Given the description of an element on the screen output the (x, y) to click on. 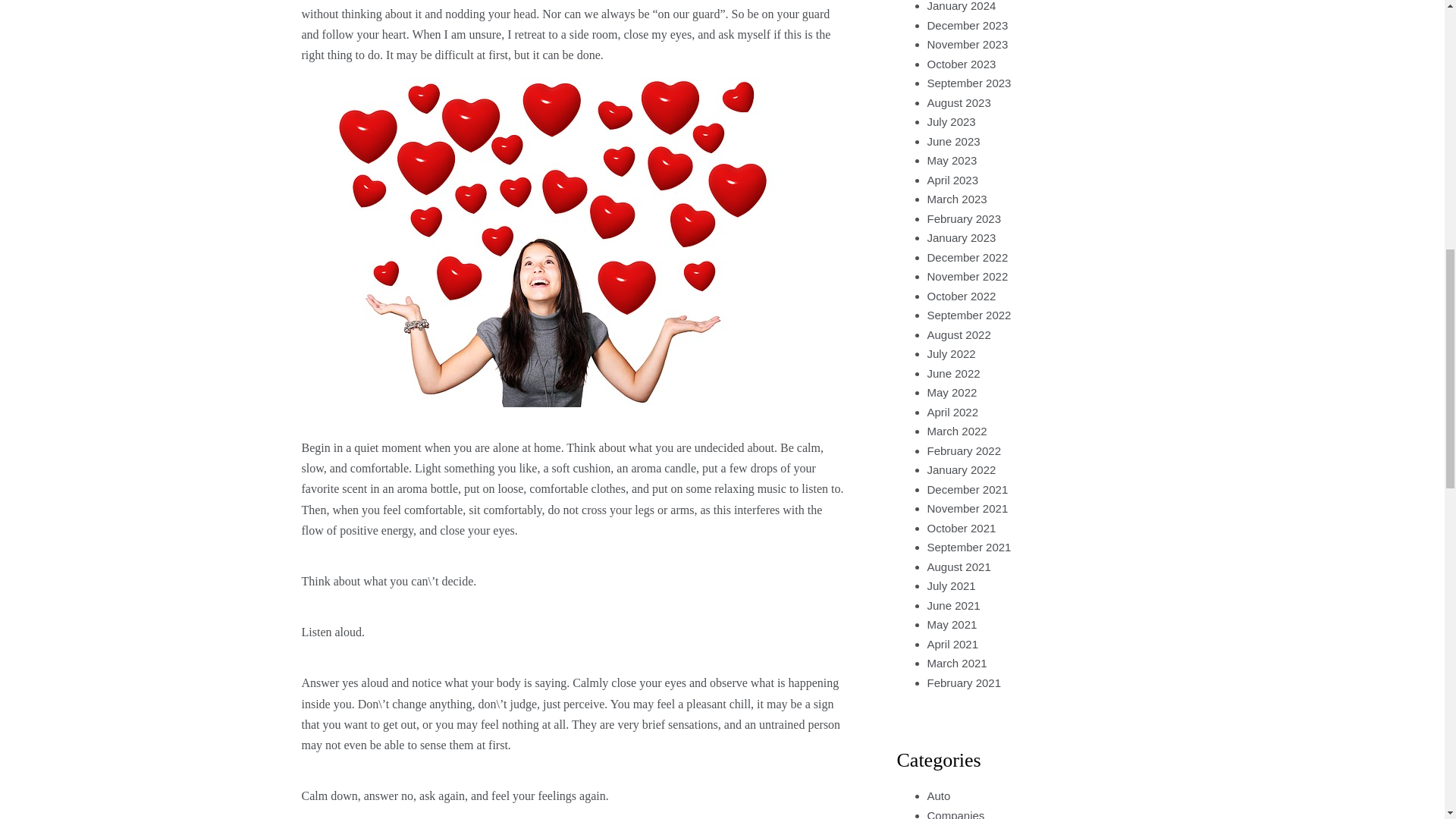
November 2023 (966, 43)
August 2023 (958, 102)
October 2023 (960, 63)
July 2023 (950, 121)
June 2023 (952, 141)
September 2023 (968, 82)
December 2023 (966, 24)
January 2024 (960, 6)
